Given the description of an element on the screen output the (x, y) to click on. 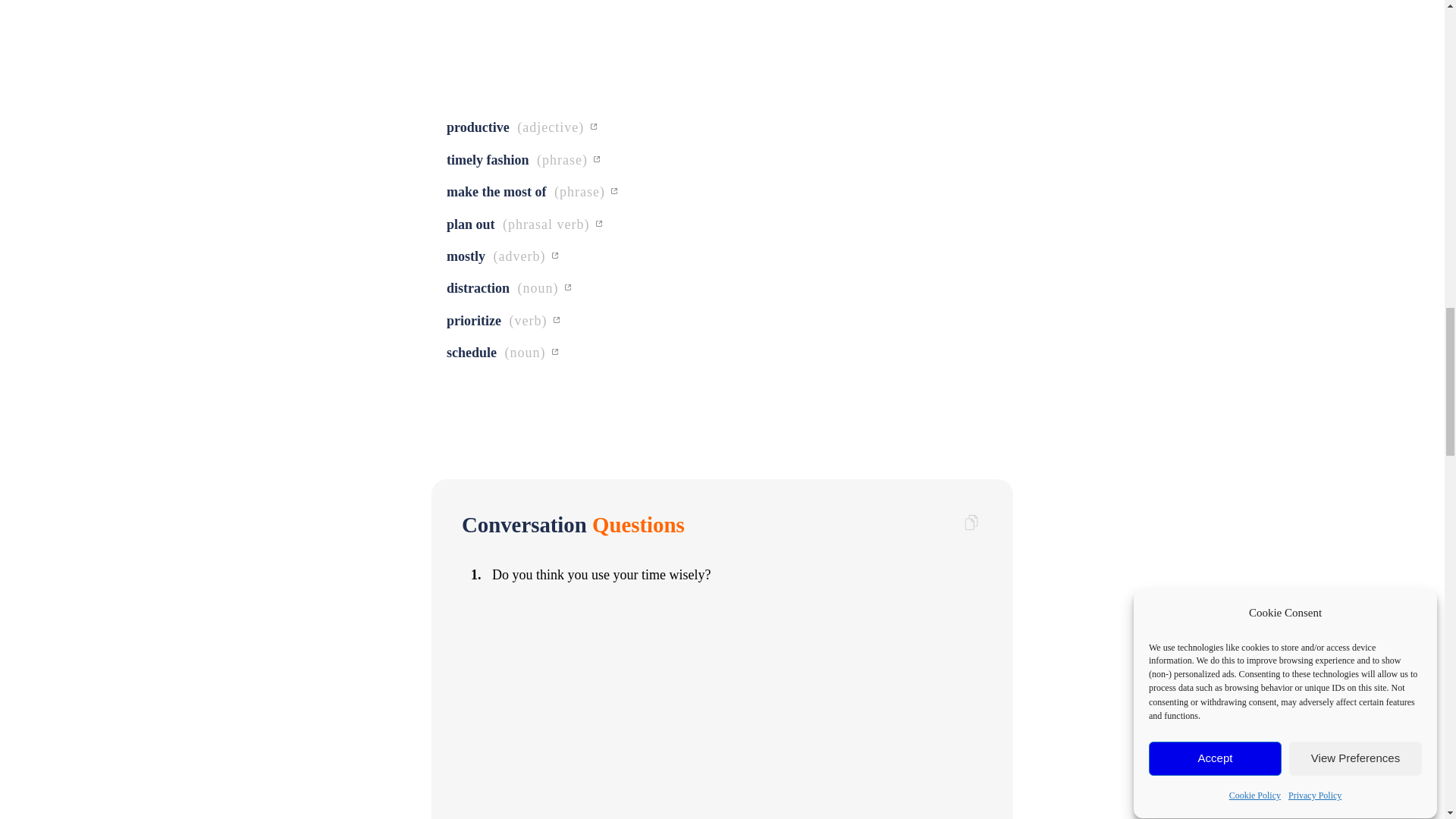
Advertisement (721, 57)
